Given the description of an element on the screen output the (x, y) to click on. 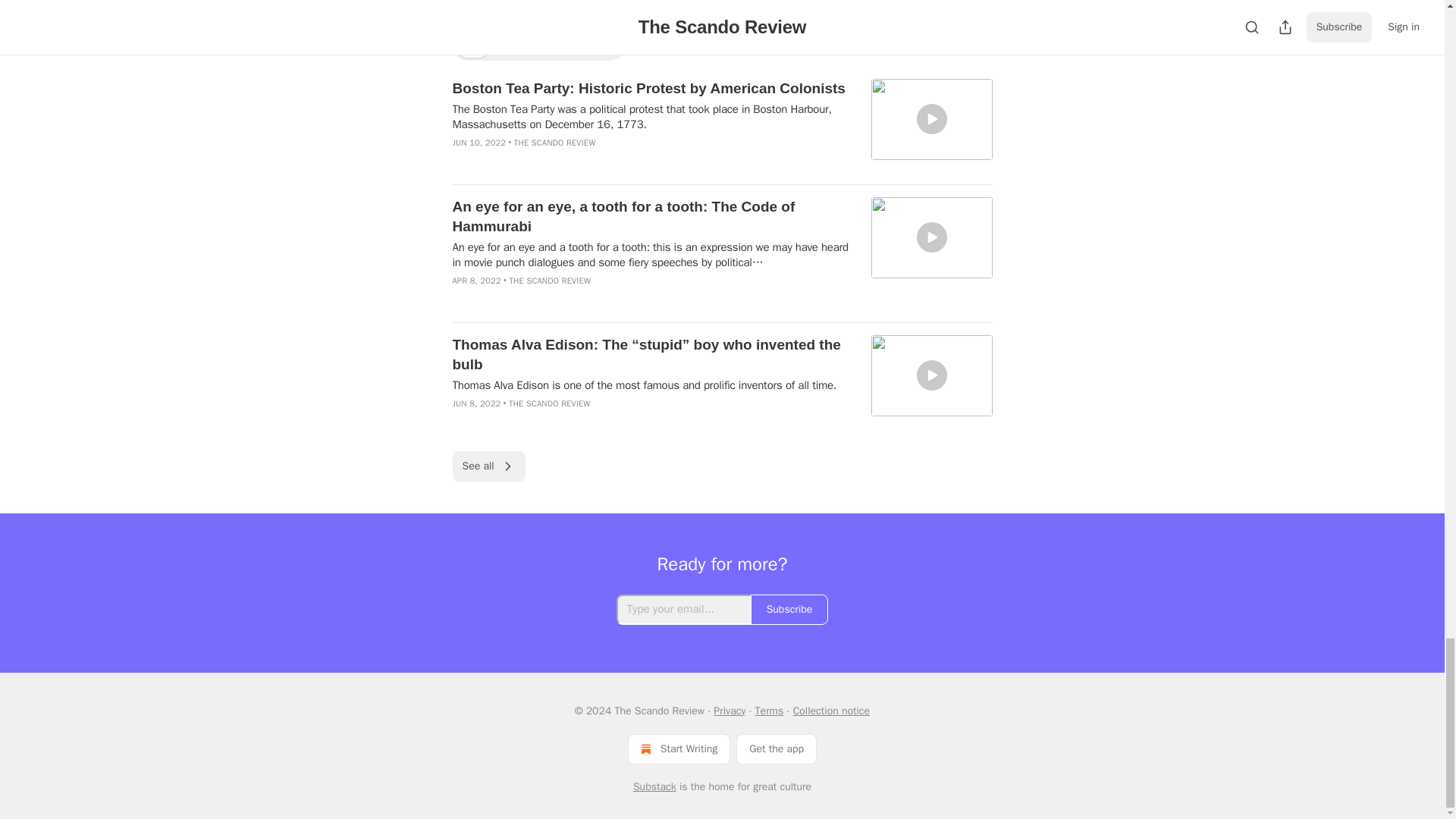
Top (471, 45)
Latest (518, 45)
Boston Tea Party: Historic Protest by American Colonists (651, 88)
Discussions (585, 45)
